Given the description of an element on the screen output the (x, y) to click on. 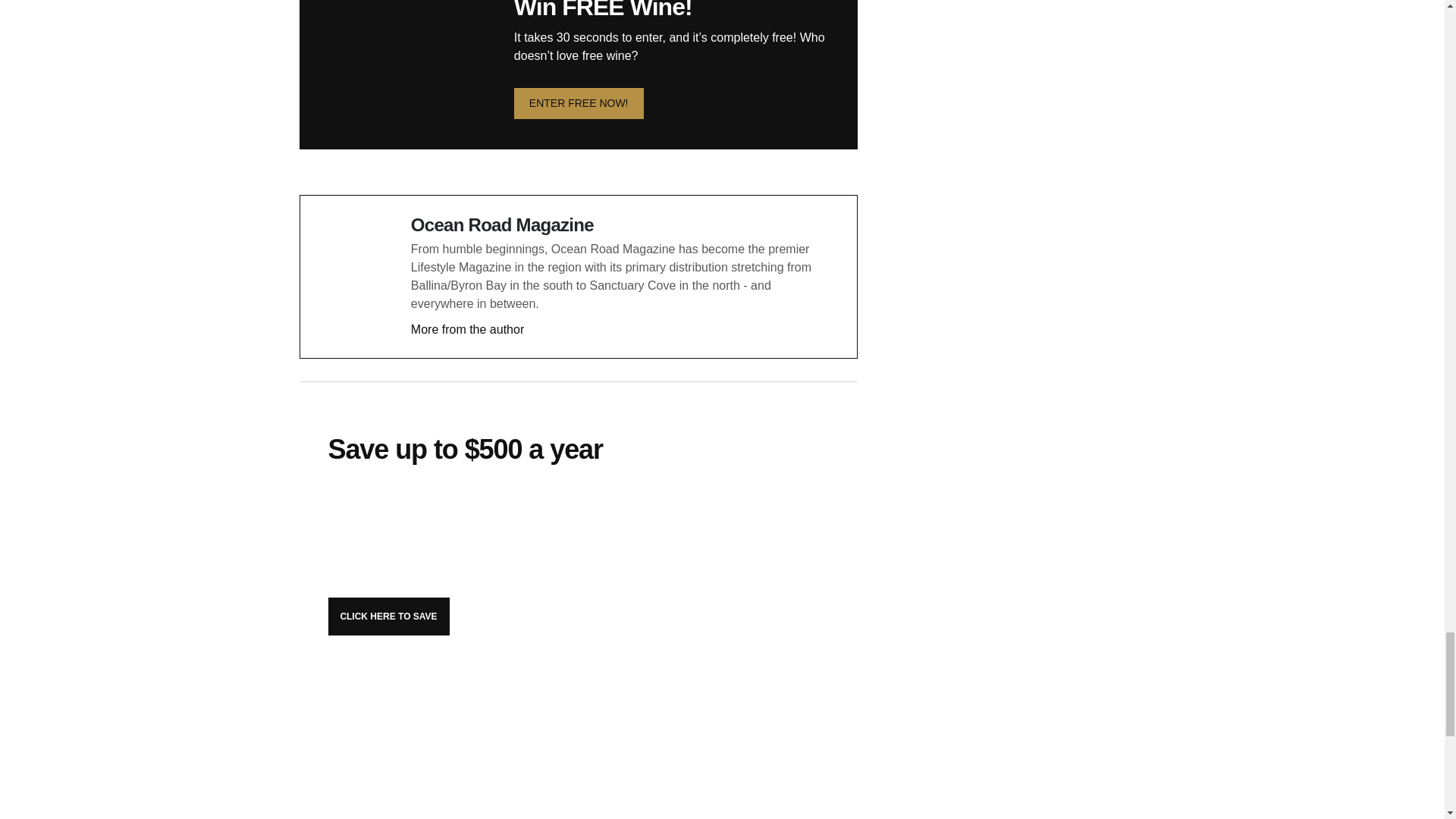
More from the author (467, 328)
ENTER FREE NOW! (578, 102)
CLICK HERE TO SAVE (387, 616)
